Given the description of an element on the screen output the (x, y) to click on. 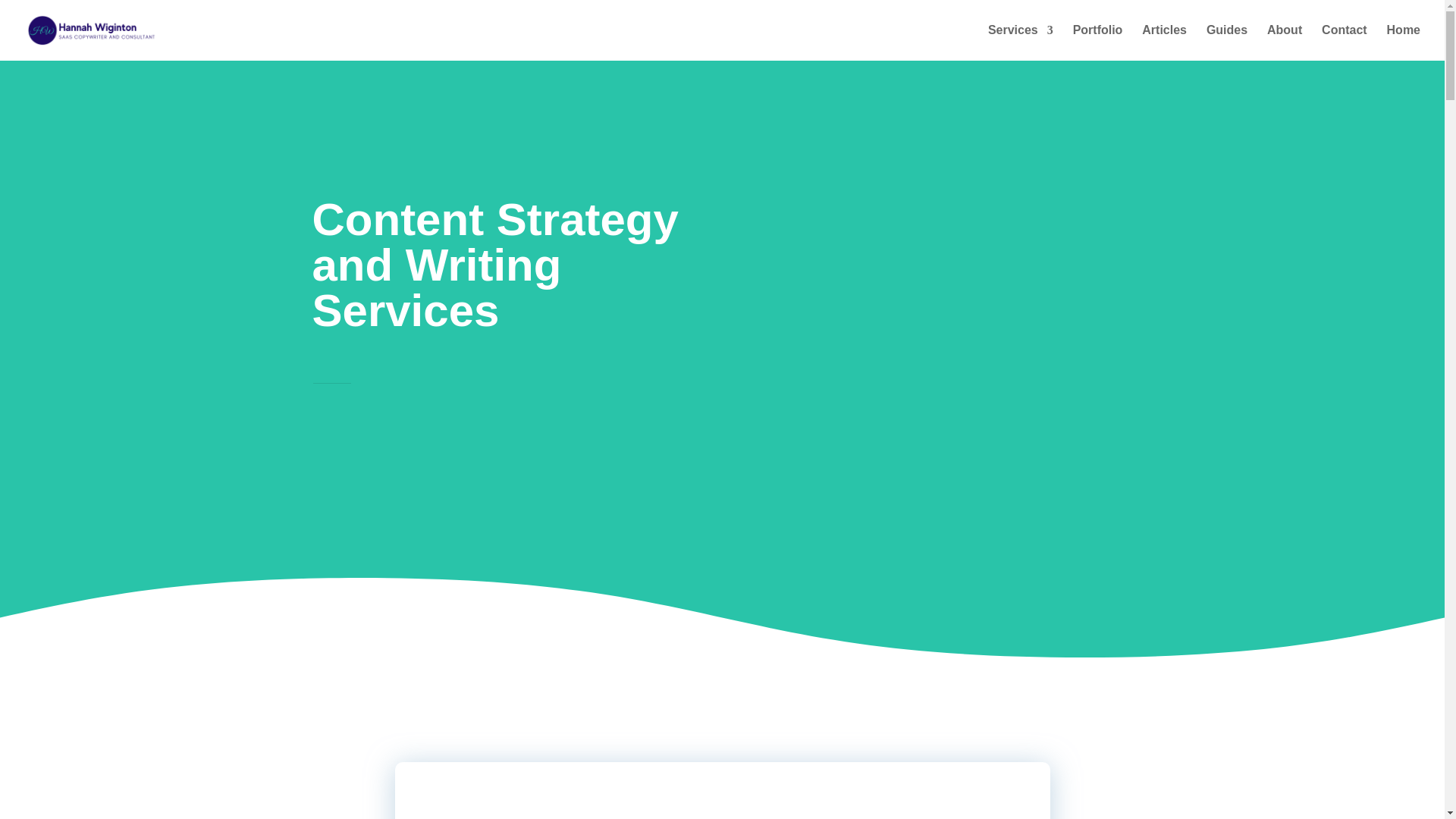
Portfolio (1097, 42)
About (1283, 42)
Services (1020, 42)
Contact (1344, 42)
Guides (1227, 42)
Articles (1163, 42)
Home (1404, 42)
